Given the description of an element on the screen output the (x, y) to click on. 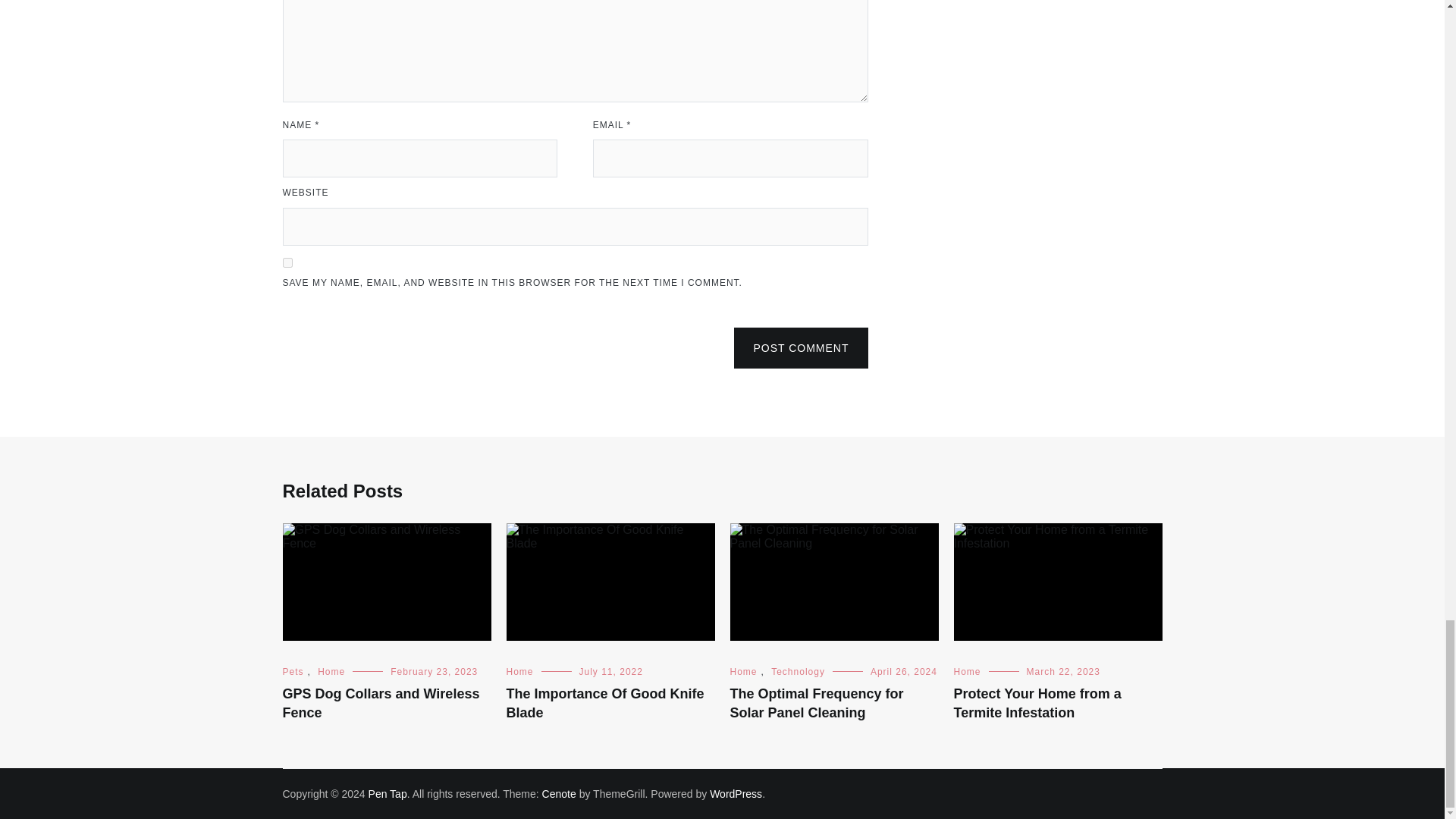
POST COMMENT (800, 347)
yes (287, 262)
Pen Tap (387, 793)
